Given the description of an element on the screen output the (x, y) to click on. 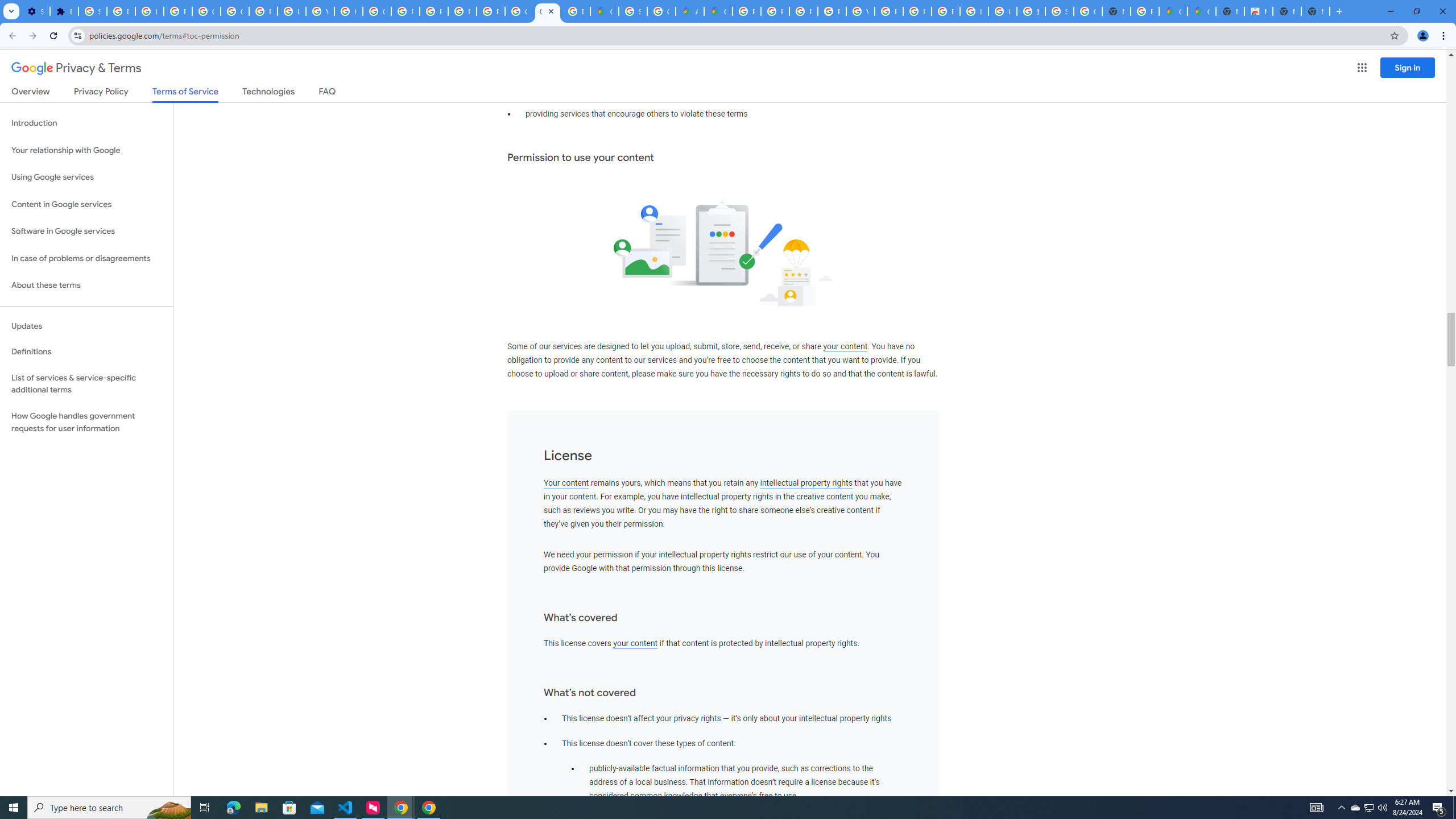
In case of problems or disagreements (86, 258)
You (1422, 35)
Sign in (1407, 67)
System (6, 6)
Google apps (1362, 67)
List of services & service-specific additional terms (86, 383)
System (6, 6)
Your relationship with Google (86, 150)
